Given the description of an element on the screen output the (x, y) to click on. 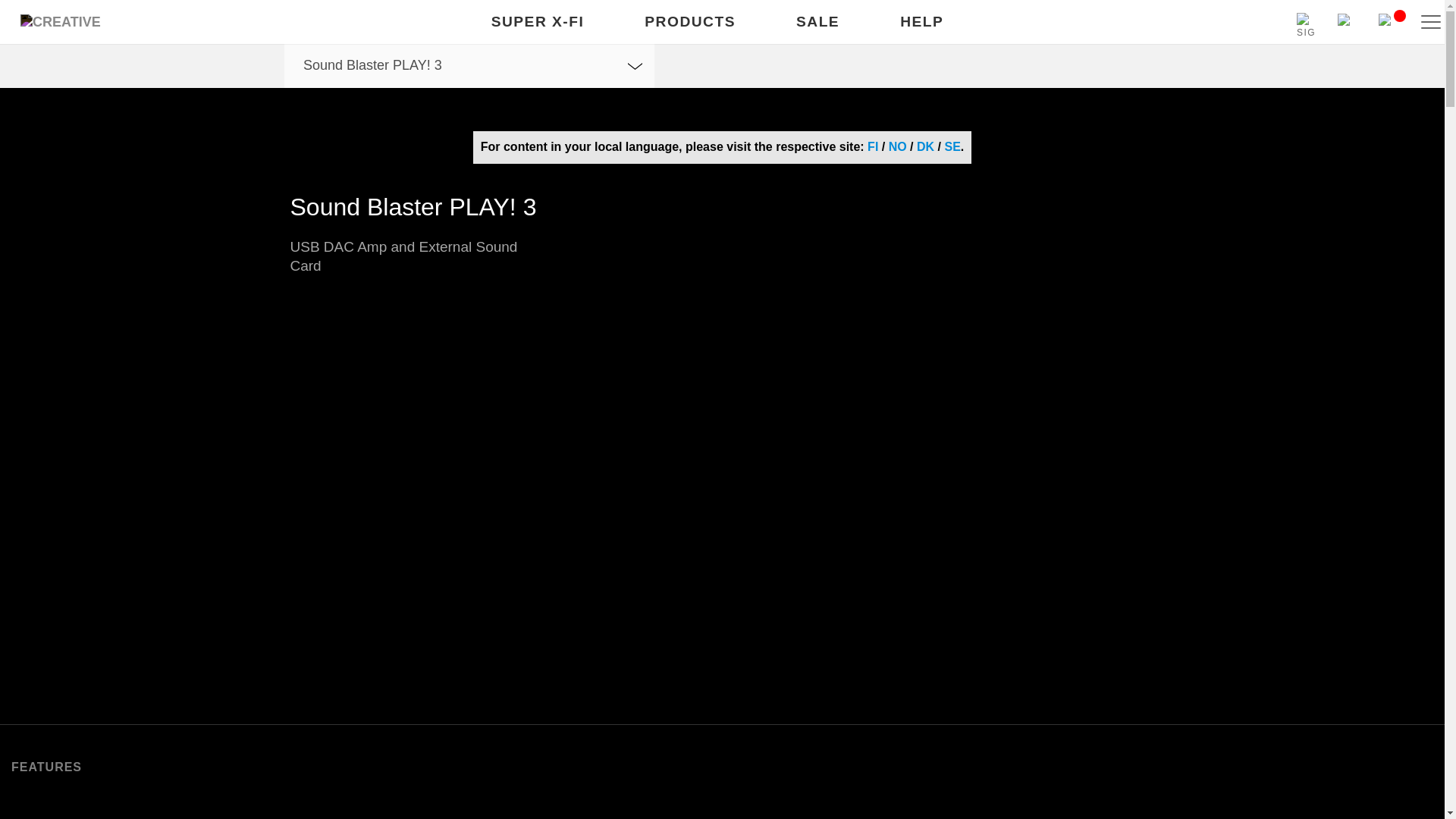
SUPER X-FI (537, 22)
PRODUCTS (689, 22)
NO (897, 146)
DK (925, 146)
SE (951, 146)
Sound Blaster PLAY! 3 (468, 65)
HELP (921, 22)
SALE (818, 22)
